Given the description of an element on the screen output the (x, y) to click on. 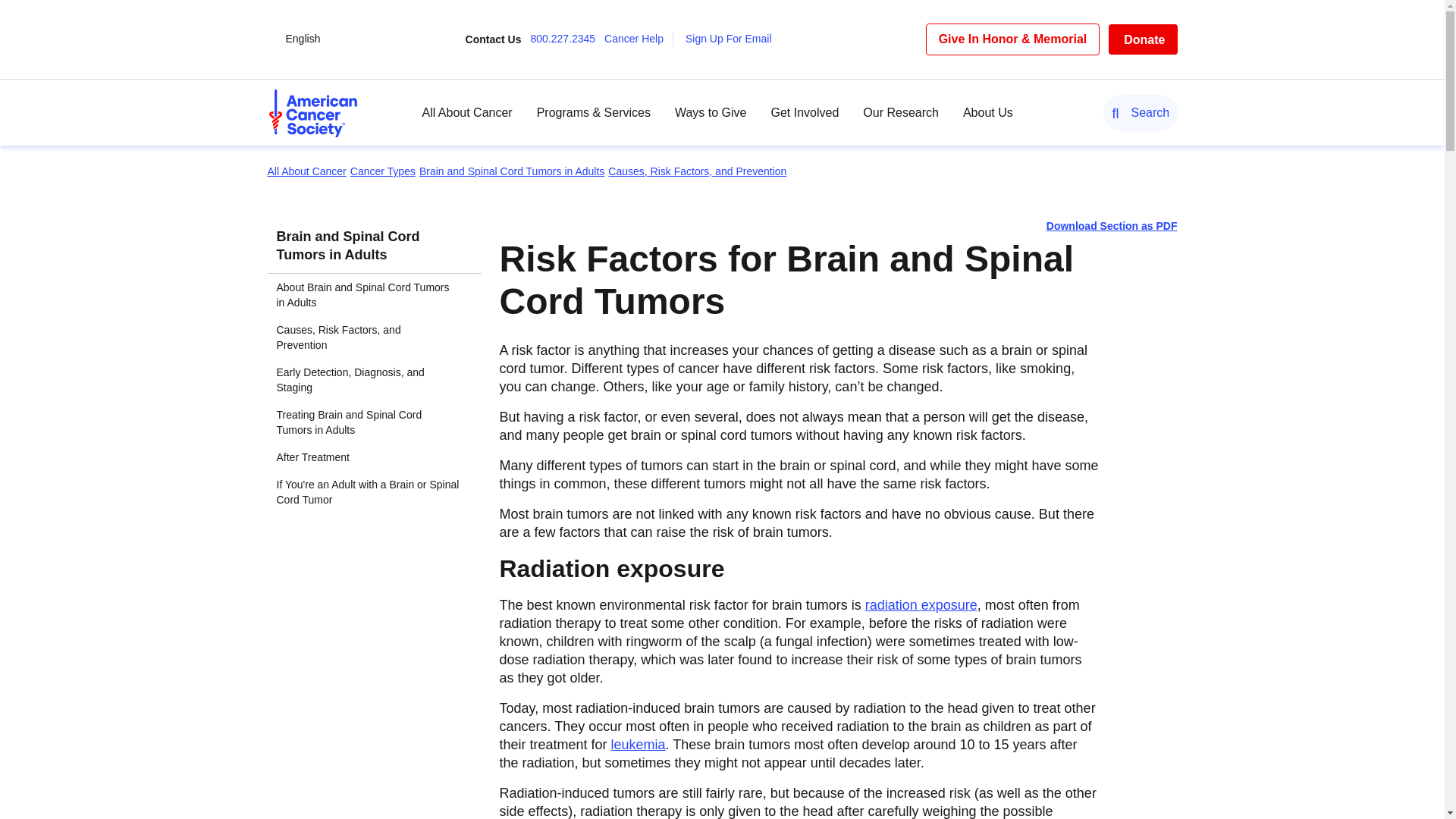
800.227.2345 (566, 39)
Donate (1142, 39)
Sign Up For Email (732, 39)
All About Cancer (467, 111)
Cancer Help (638, 39)
English (302, 39)
